Given the description of an element on the screen output the (x, y) to click on. 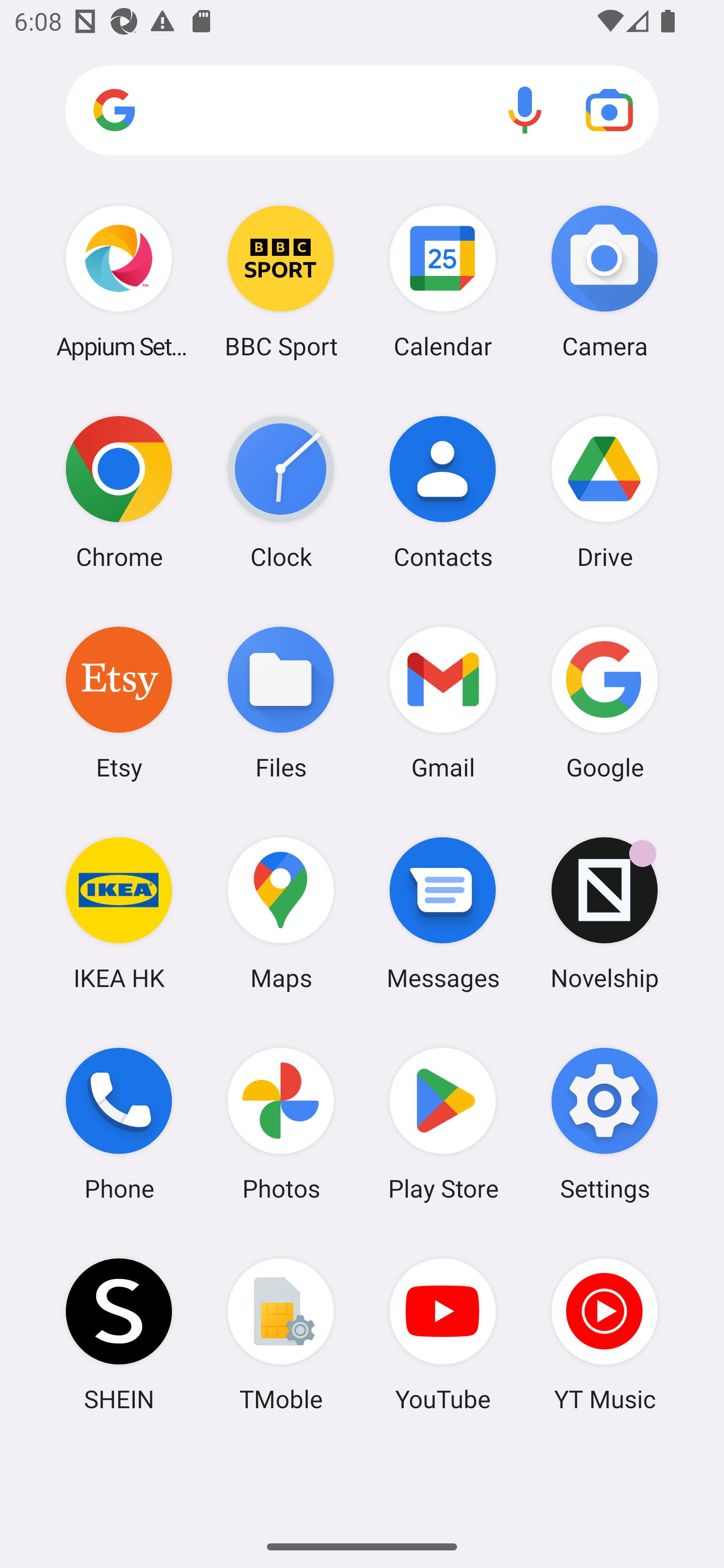
Search apps, web and more (361, 110)
Voice search (524, 109)
Google Lens (608, 109)
Appium Settings (118, 281)
BBC Sport (280, 281)
Calendar (443, 281)
Camera (604, 281)
Chrome (118, 492)
Clock (280, 492)
Contacts (443, 492)
Drive (604, 492)
Etsy (118, 702)
Files (280, 702)
Gmail (443, 702)
Google (604, 702)
IKEA HK (118, 913)
Maps (280, 913)
Messages (443, 913)
Novelship Novelship has 1 notification (604, 913)
Phone (118, 1124)
Photos (280, 1124)
Play Store (443, 1124)
Settings (604, 1124)
SHEIN (118, 1334)
TMoble (280, 1334)
YouTube (443, 1334)
YT Music (604, 1334)
